Given the description of an element on the screen output the (x, y) to click on. 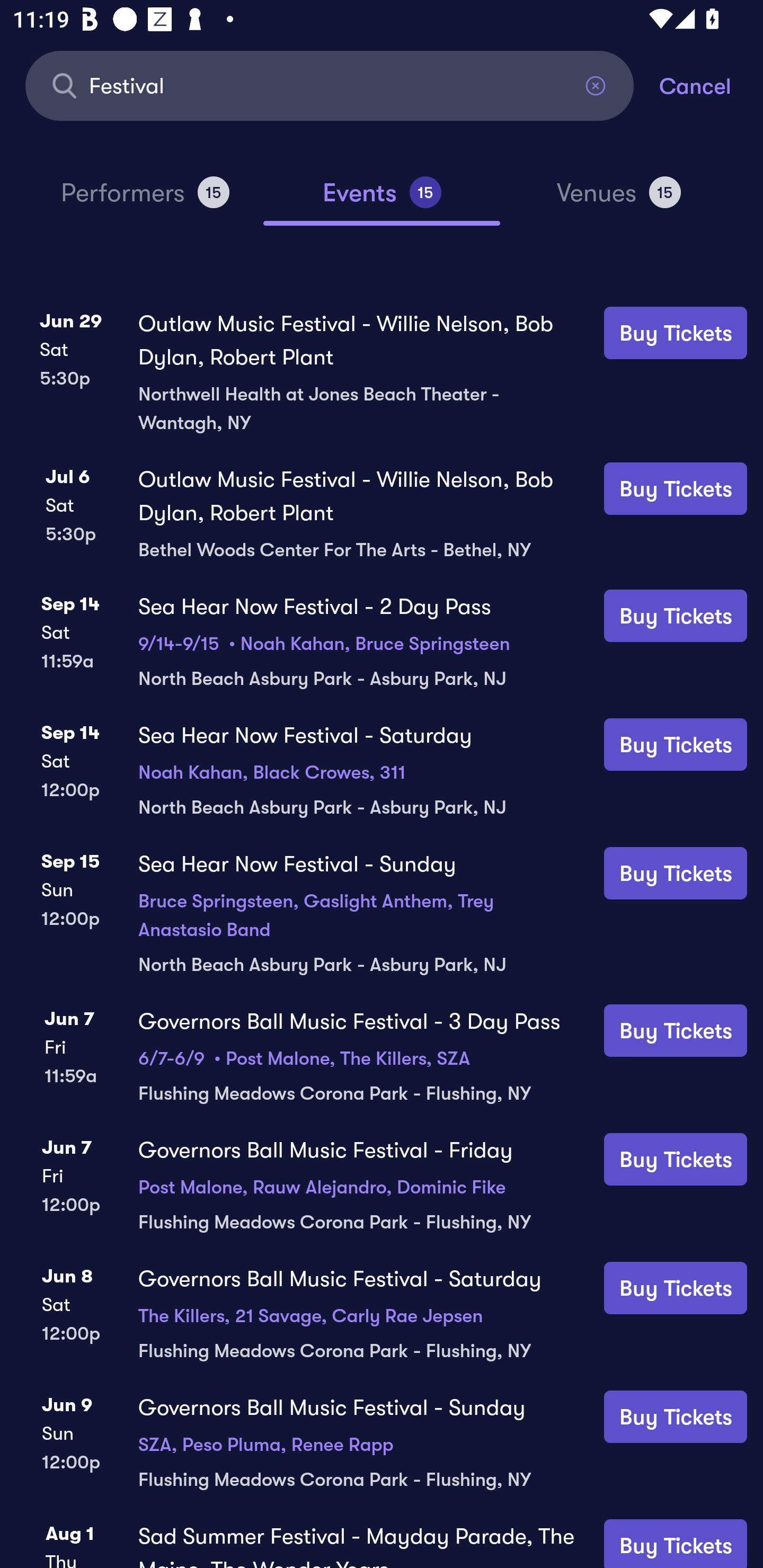
Festival Find (329, 85)
Festival Find (329, 85)
Cancel (711, 85)
Performers 15 (144, 200)
Events 15 (381, 200)
Venues 15 (618, 200)
